Given the description of an element on the screen output the (x, y) to click on. 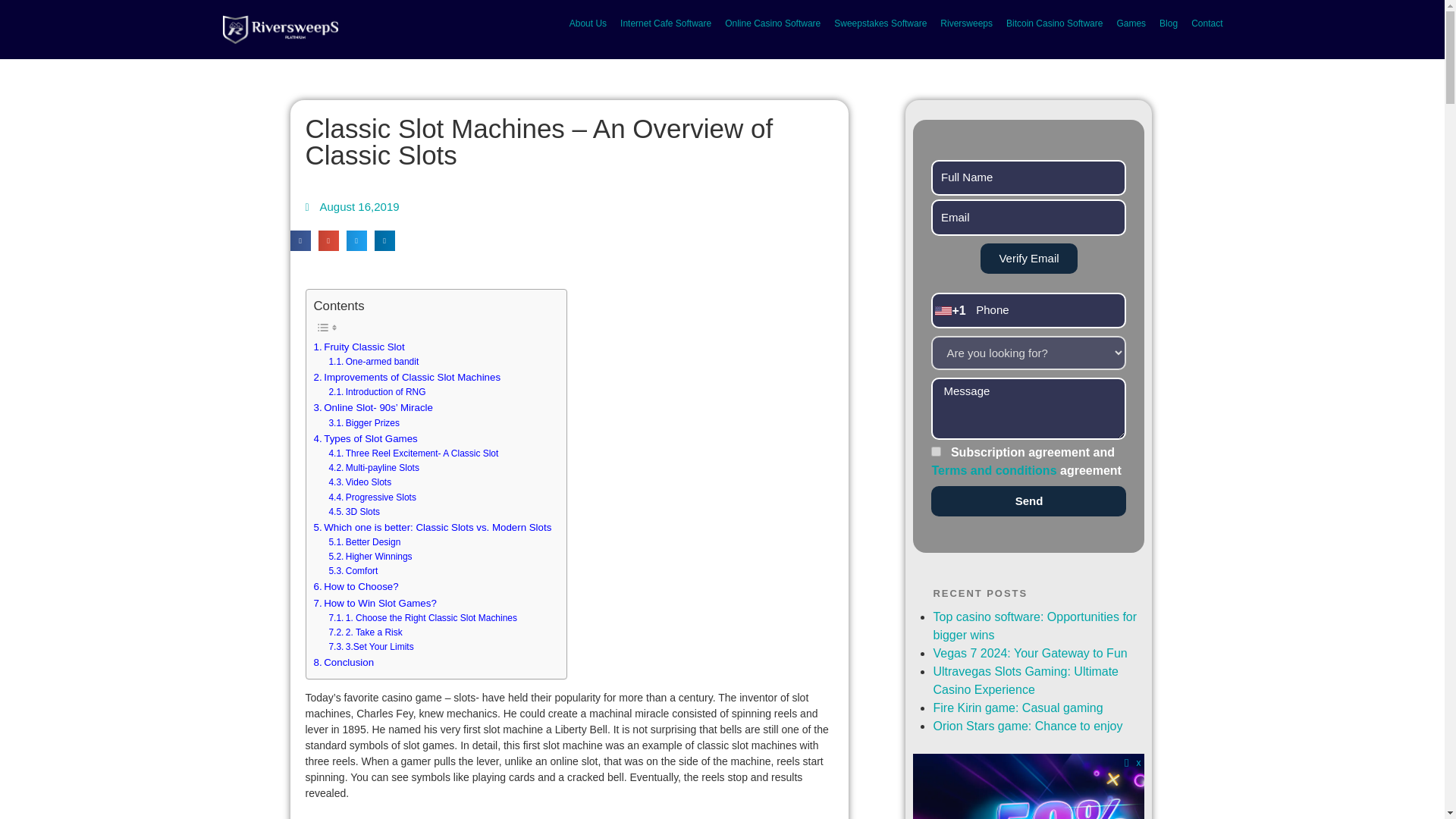
Blog (1169, 23)
Send (1028, 501)
How to Win Slot Games? (375, 602)
Introduction of RNG (377, 391)
Three Reel Excitement- A Classic Slot (413, 453)
Multi-payline Slots (374, 468)
Types of Slot Games (365, 438)
3D Slots (354, 512)
Comfort (353, 571)
Online Casino Software (772, 23)
